Given the description of an element on the screen output the (x, y) to click on. 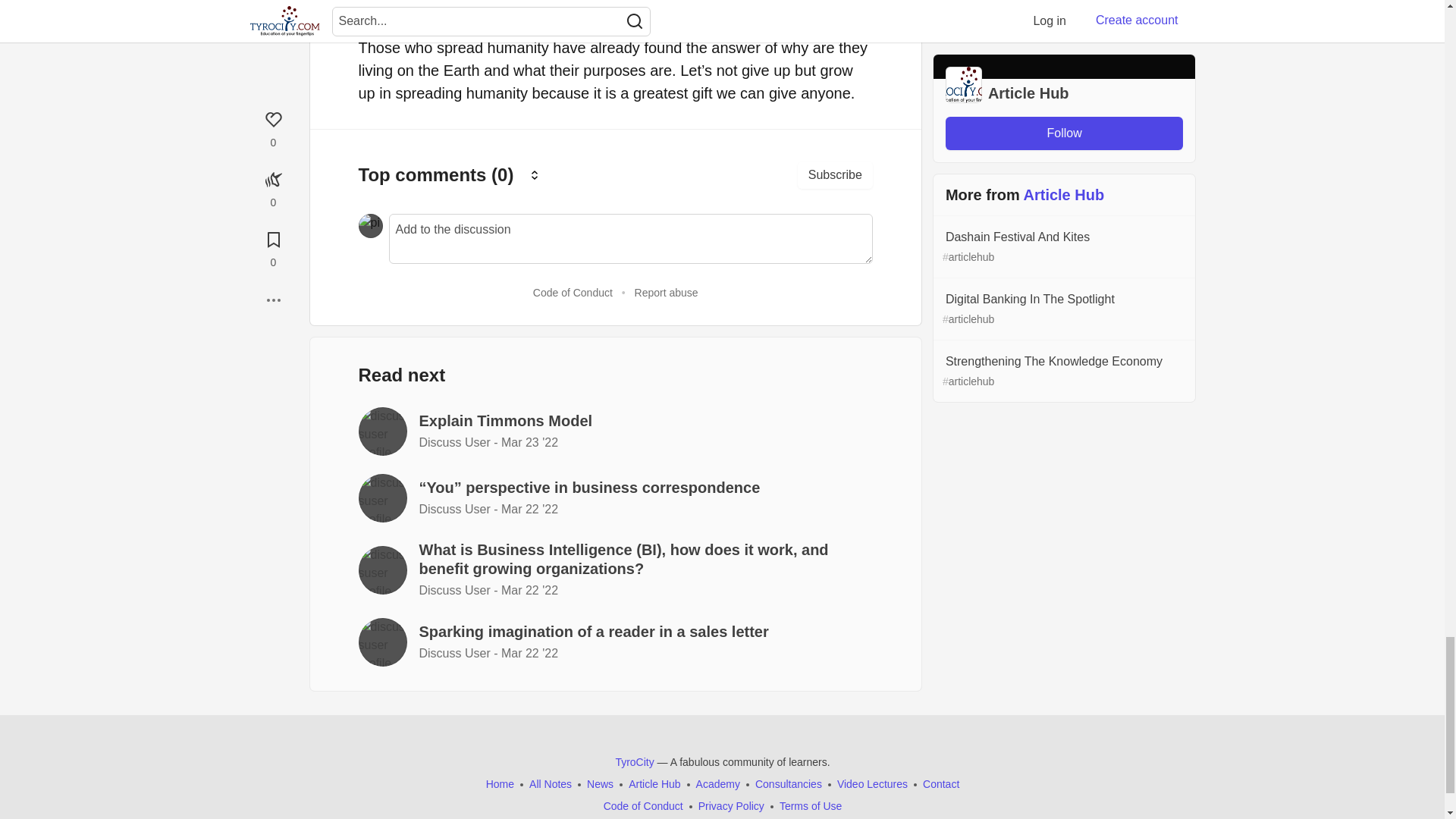
Report abuse (666, 292)
Crown (534, 174)
Crown (534, 175)
Code of Conduct (572, 292)
